Given the description of an element on the screen output the (x, y) to click on. 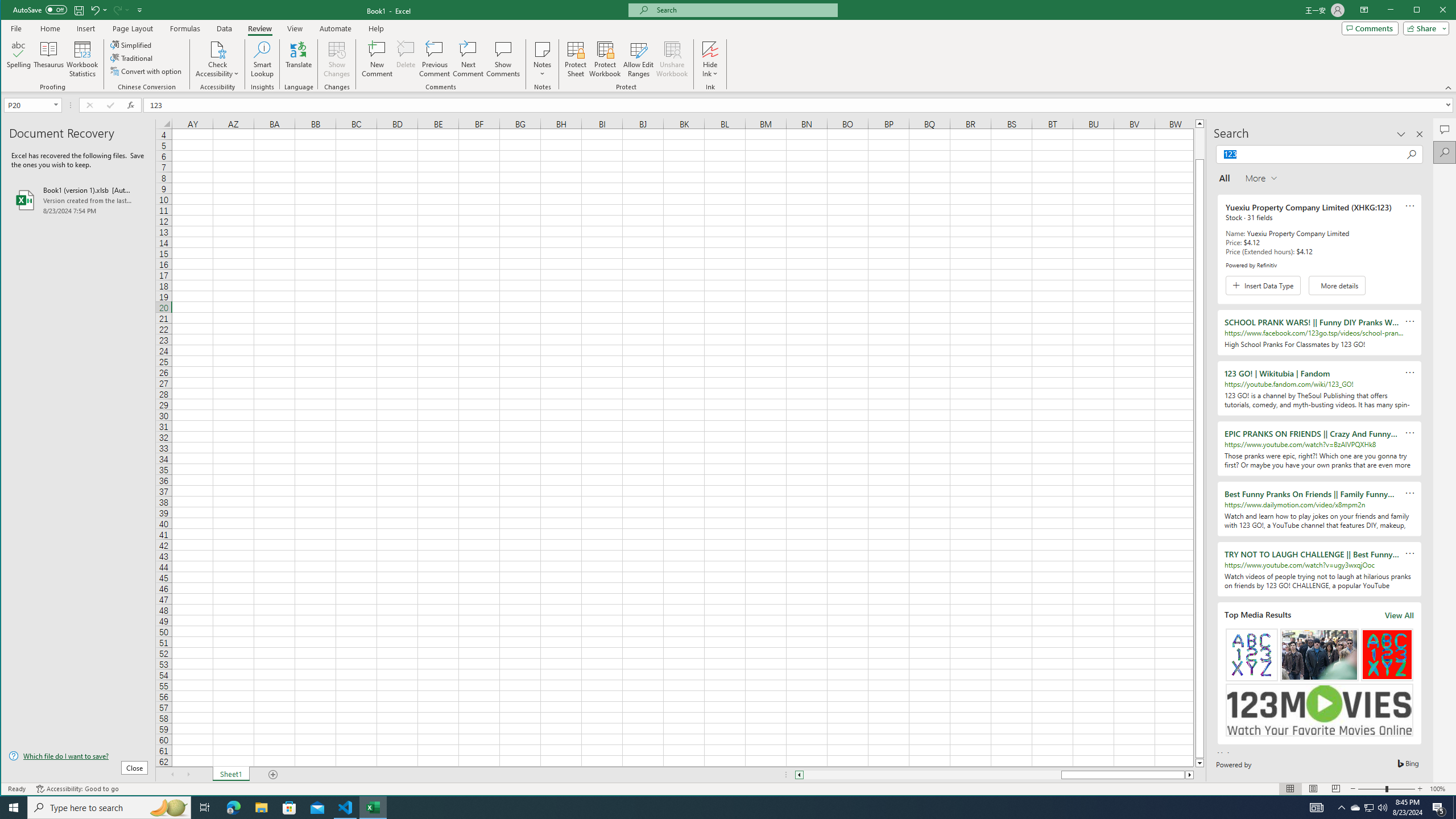
Share (1423, 27)
Help (376, 28)
Traditional (132, 57)
Page Layout (1312, 788)
Excel - 1 running window (373, 807)
File Explorer (261, 807)
Column left (798, 774)
Accessibility Checker Accessibility: Good to go (77, 788)
Allow Edit Ranges (638, 59)
System (11, 10)
Undo (94, 9)
Normal (1290, 788)
Collapse the Ribbon (1448, 87)
